Given the description of an element on the screen output the (x, y) to click on. 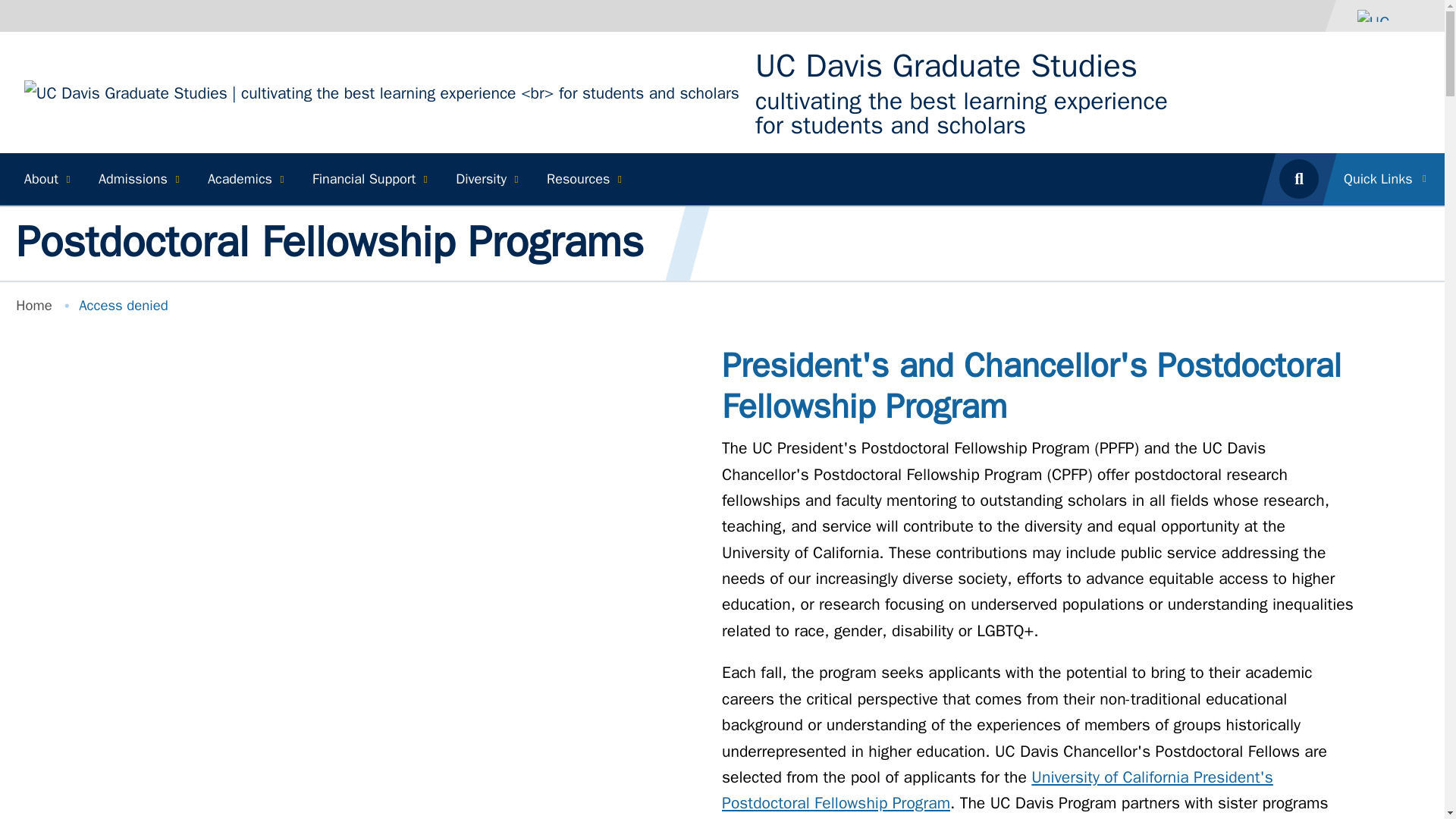
Home (381, 91)
UC Davis Graduate Studies (946, 65)
Our Commitment to Diversity (485, 179)
About (45, 179)
Home (946, 65)
